Given the description of an element on the screen output the (x, y) to click on. 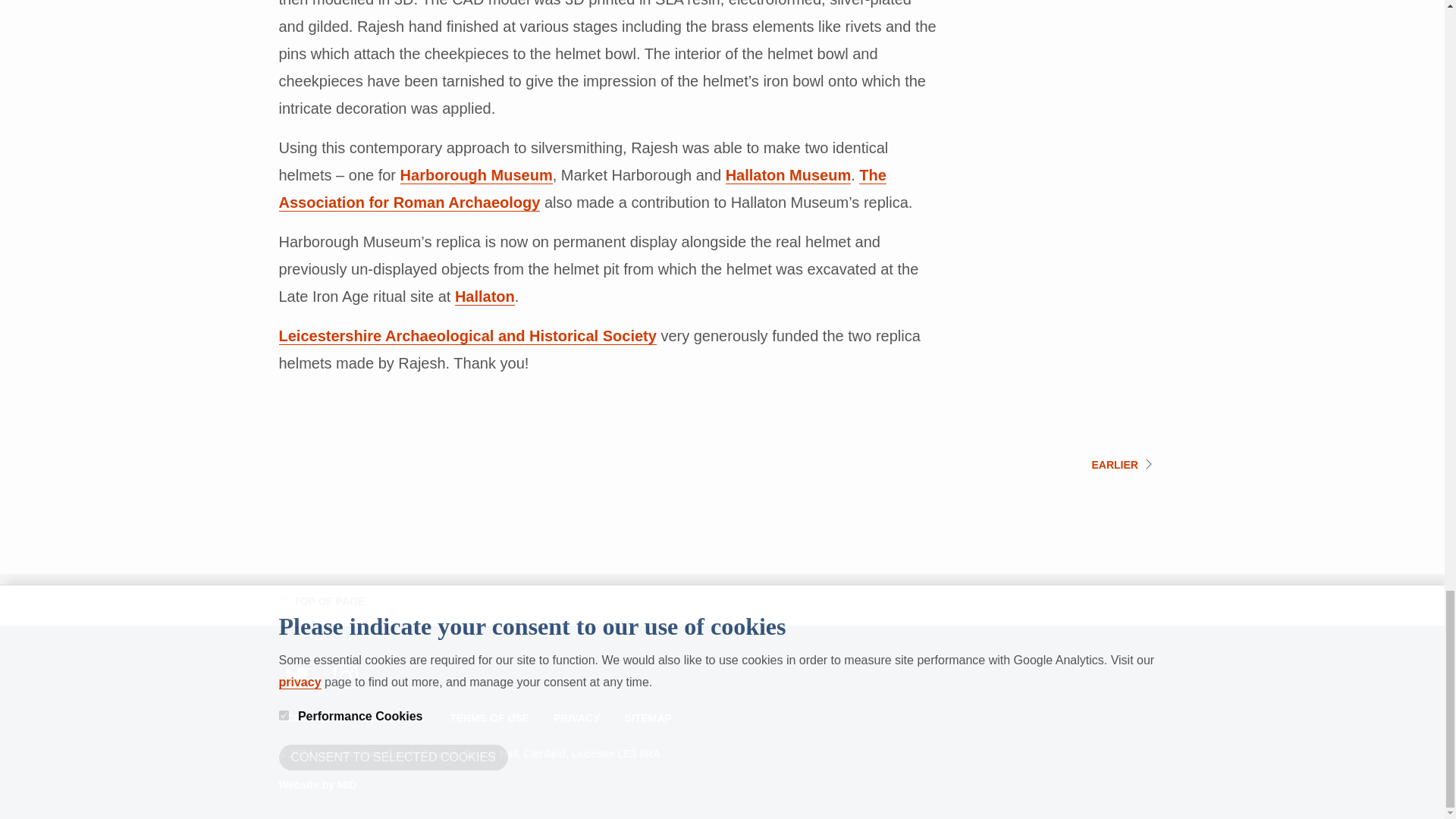
Leicestershire Archaeological and Historical Society (467, 335)
The Association for Roman Archaeology (582, 189)
EARLIER (1113, 464)
TOP OF PAGE (322, 601)
Hallaton (484, 296)
ACCESSIBILITY STATEMENT (358, 718)
Hallaton Museum (788, 175)
Harborough Museum (476, 175)
